Given the description of an element on the screen output the (x, y) to click on. 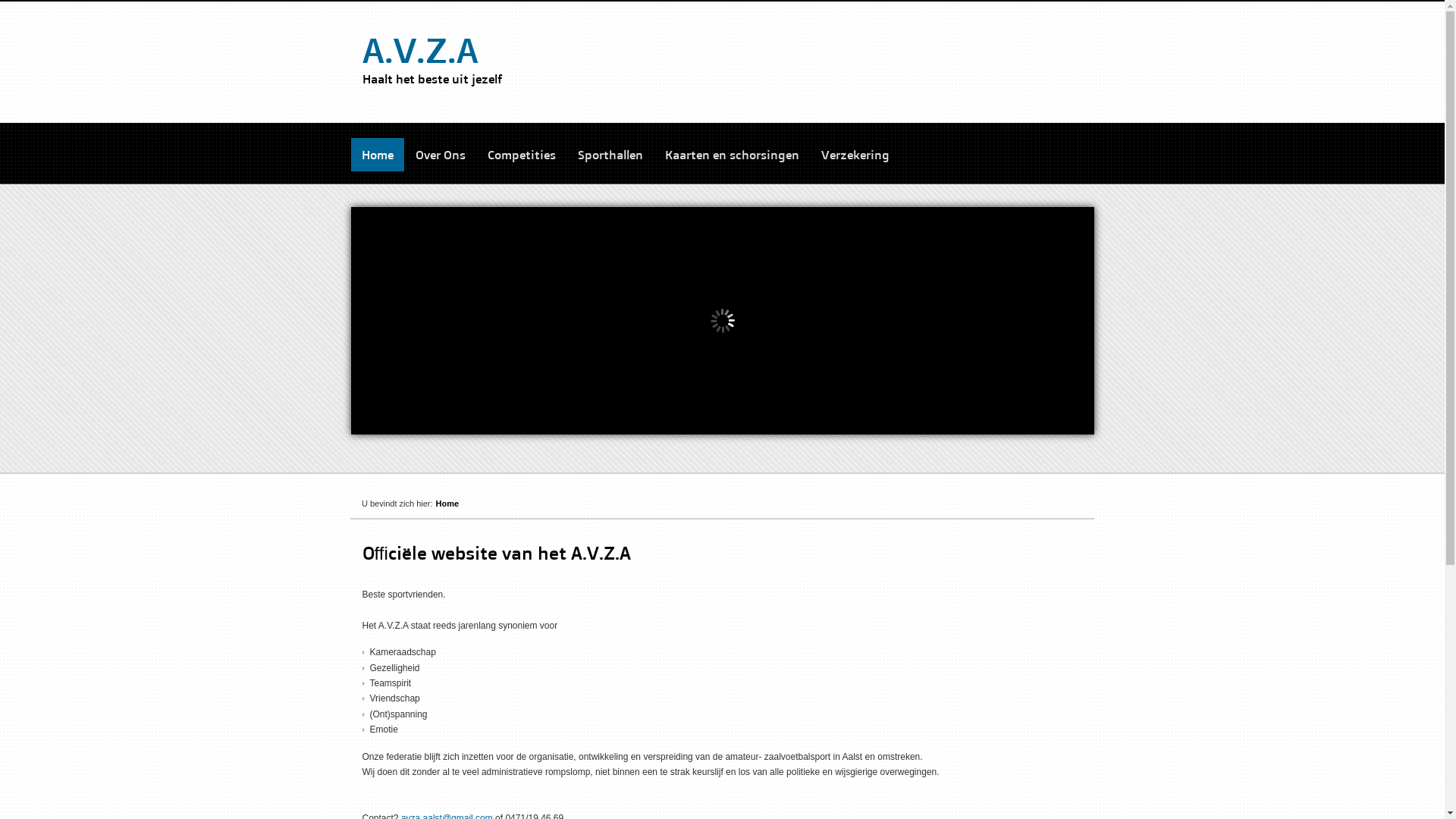
Sporthallen Element type: text (610, 154)
Home Element type: text (376, 154)
Kaarten en schorsingen Element type: text (731, 154)
Competities Element type: text (520, 154)
Verzekering Element type: text (854, 154)
Over Ons Element type: text (440, 154)
A.V.Z.A
Haalt het beste uit jezelf Element type: text (432, 59)
